Given the description of an element on the screen output the (x, y) to click on. 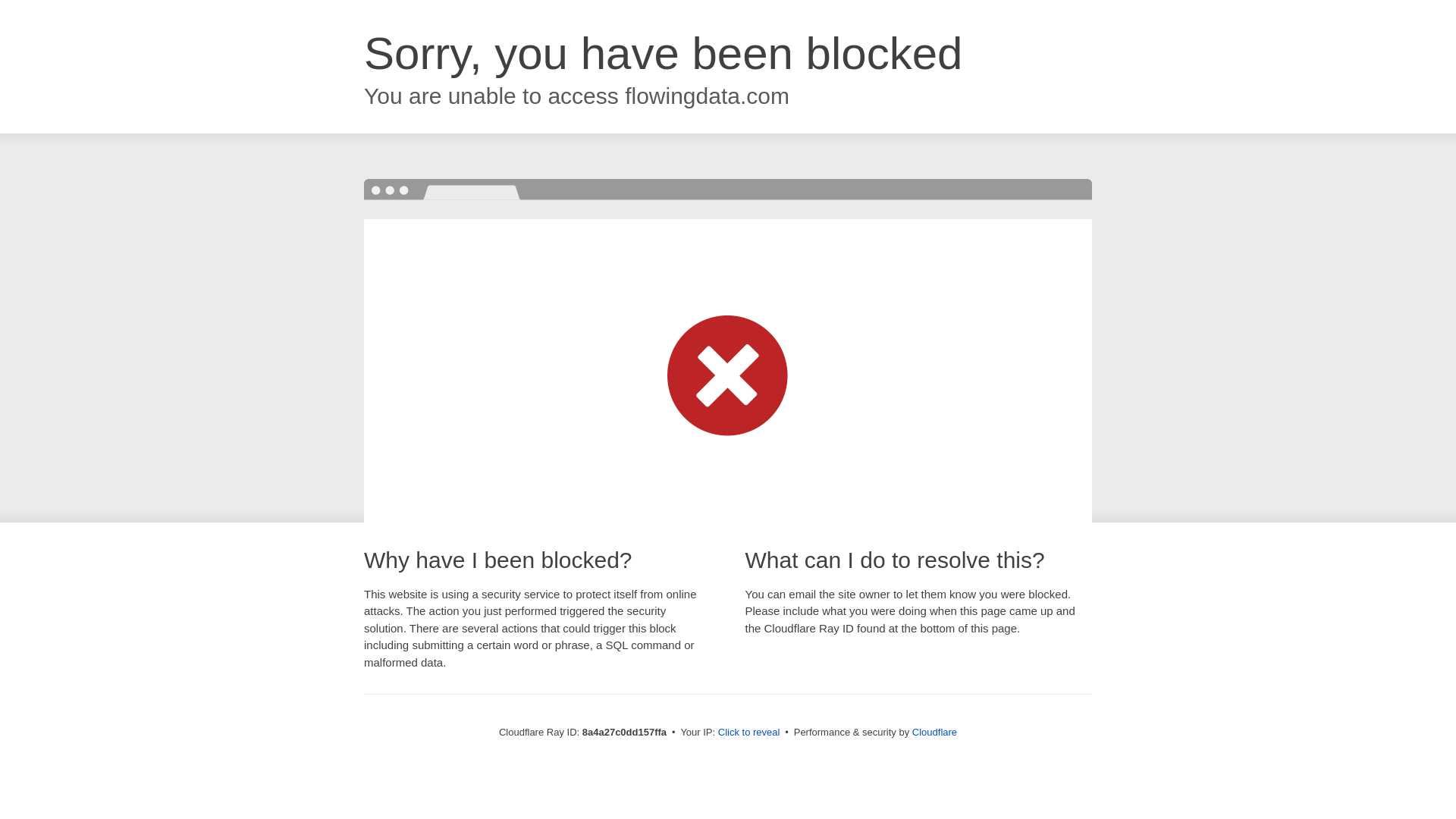
Click to reveal (748, 732)
Cloudflare (934, 731)
